Given the description of an element on the screen output the (x, y) to click on. 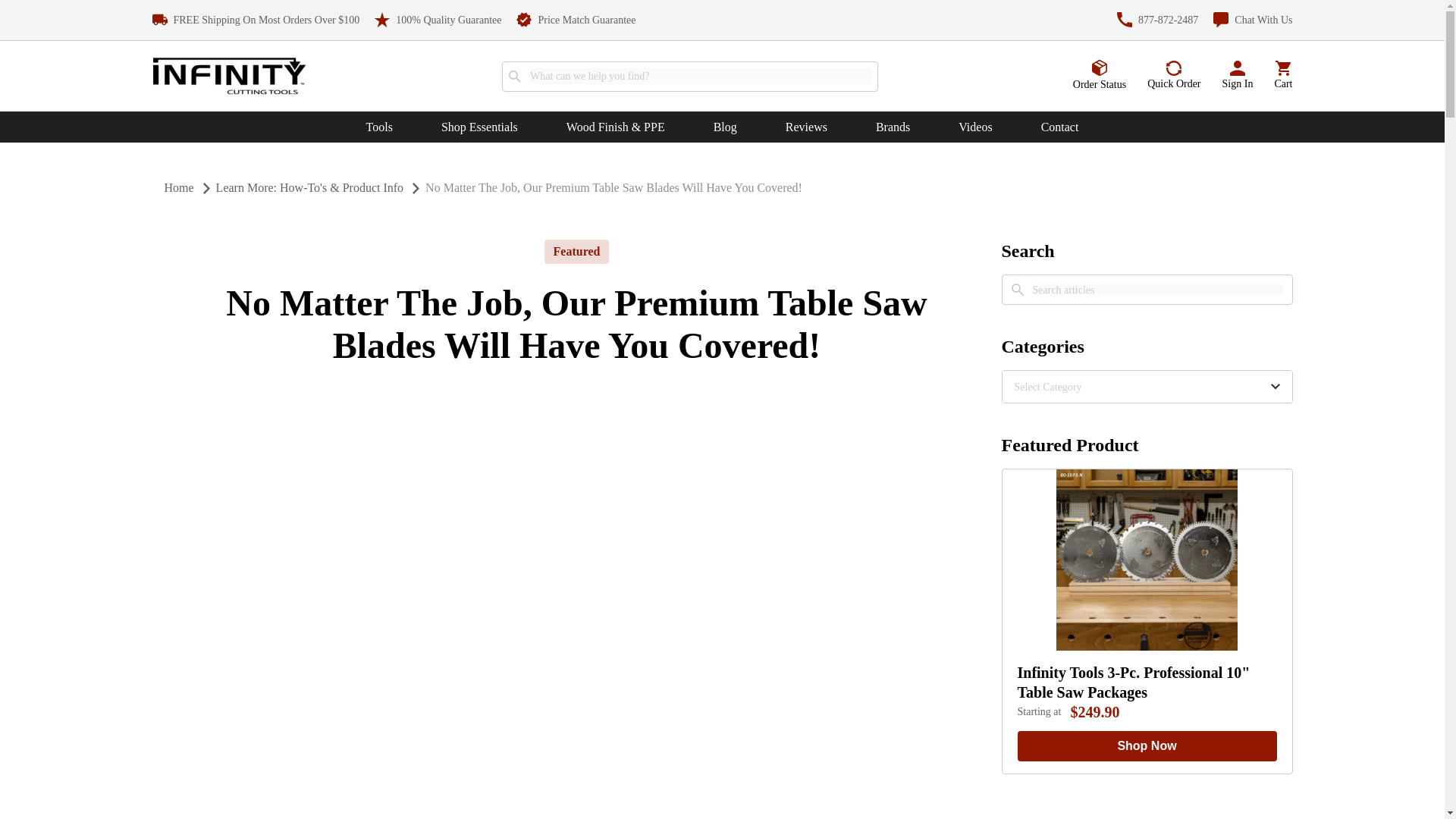
Chat With Us (1252, 19)
877-872-2487 (1157, 19)
Order Status (1099, 75)
Quick Order (1173, 75)
Tools (379, 126)
Sign In (1238, 75)
